Given the description of an element on the screen output the (x, y) to click on. 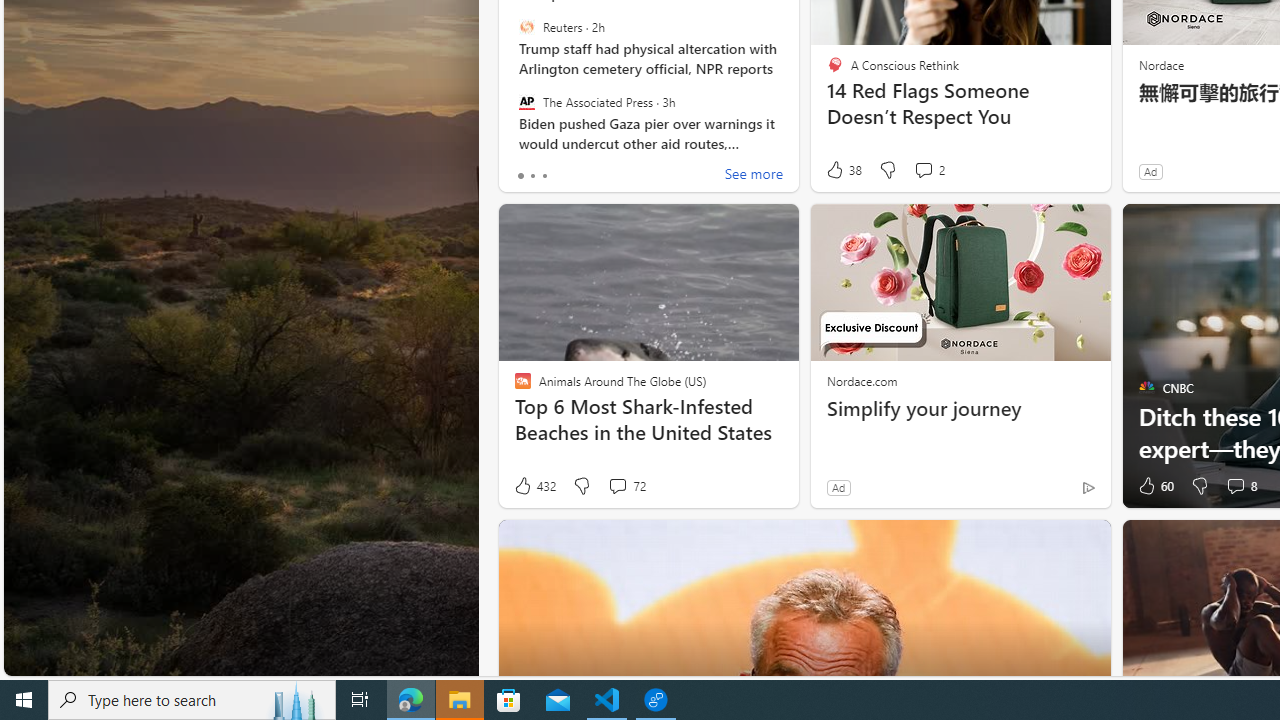
tab-2 (543, 175)
38 Like (843, 170)
Nordace.com (861, 380)
View comments 2 Comment (928, 170)
60 Like (1154, 485)
View comments 2 Comment (923, 169)
